Given the description of an element on the screen output the (x, y) to click on. 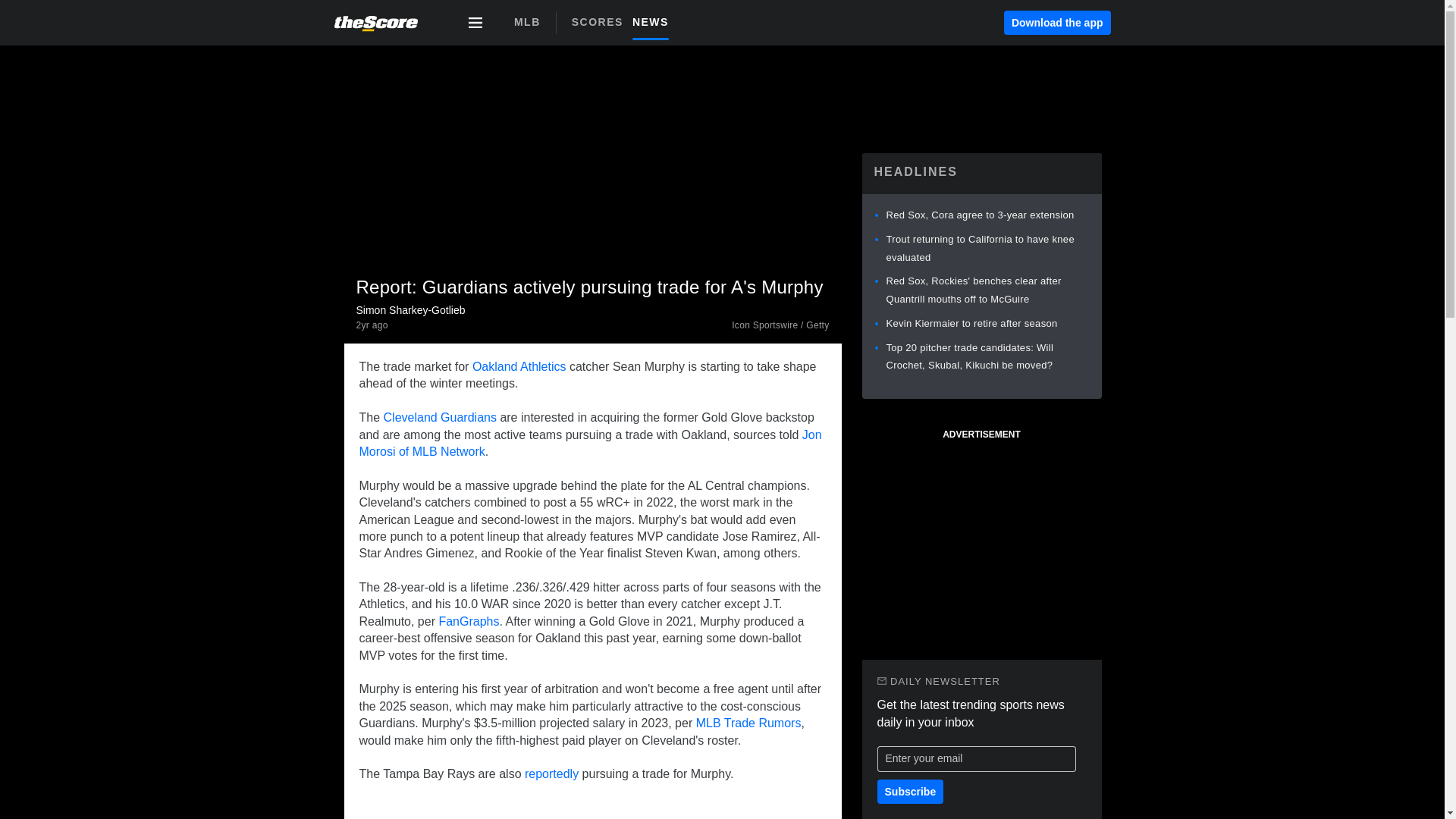
Kevin Kiermaier to retire after season (971, 323)
Subscribe (909, 791)
Cleveland Guardians (625, 26)
SCORES (440, 417)
FanGraphs (601, 21)
Oakland Athletics (468, 621)
Trout returning to California to have knee evaluated (518, 366)
MLB (979, 247)
Jon Morosi of MLB Network (526, 22)
NEWS (590, 442)
2022-12-01T00:53:11.000Z (654, 21)
Red Sox, Cora agree to 3-year extension (372, 325)
